Given the description of an element on the screen output the (x, y) to click on. 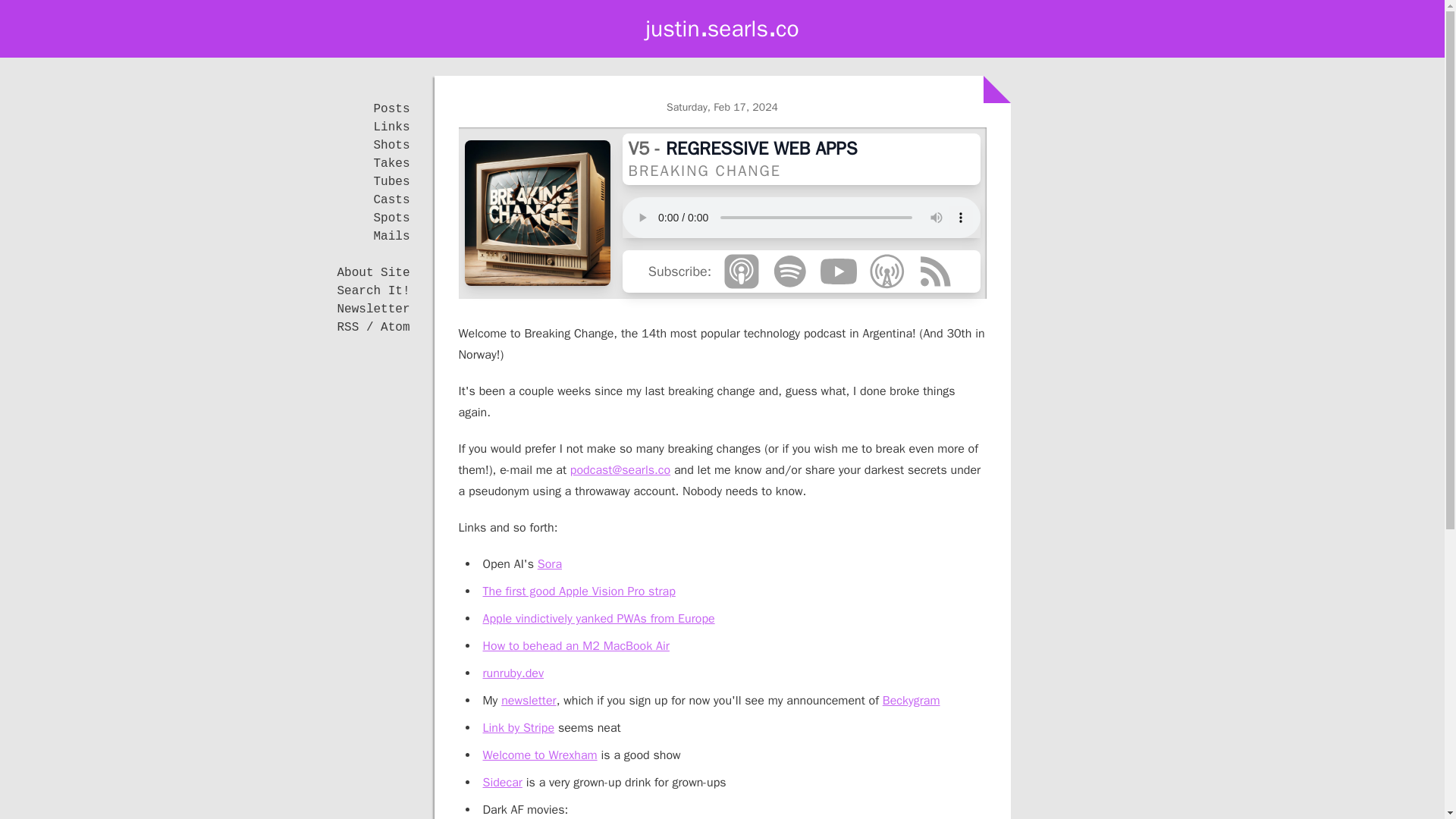
Breaking Change on Spotify (789, 271)
Casts (390, 200)
Breaking Change on Apple Podcasts (741, 271)
Takes (390, 163)
The first good Apple Vision Pro strap (578, 590)
Newsletter (372, 309)
Beckygram (911, 700)
Posts (390, 109)
Apple vindictively yanked PWAs from Europe (597, 618)
newsletter (528, 700)
Breaking Change RSS Feed (935, 271)
Search It! (372, 291)
Sora (549, 563)
Breaking Change on YouTube (839, 271)
Mails (390, 236)
